Given the description of an element on the screen output the (x, y) to click on. 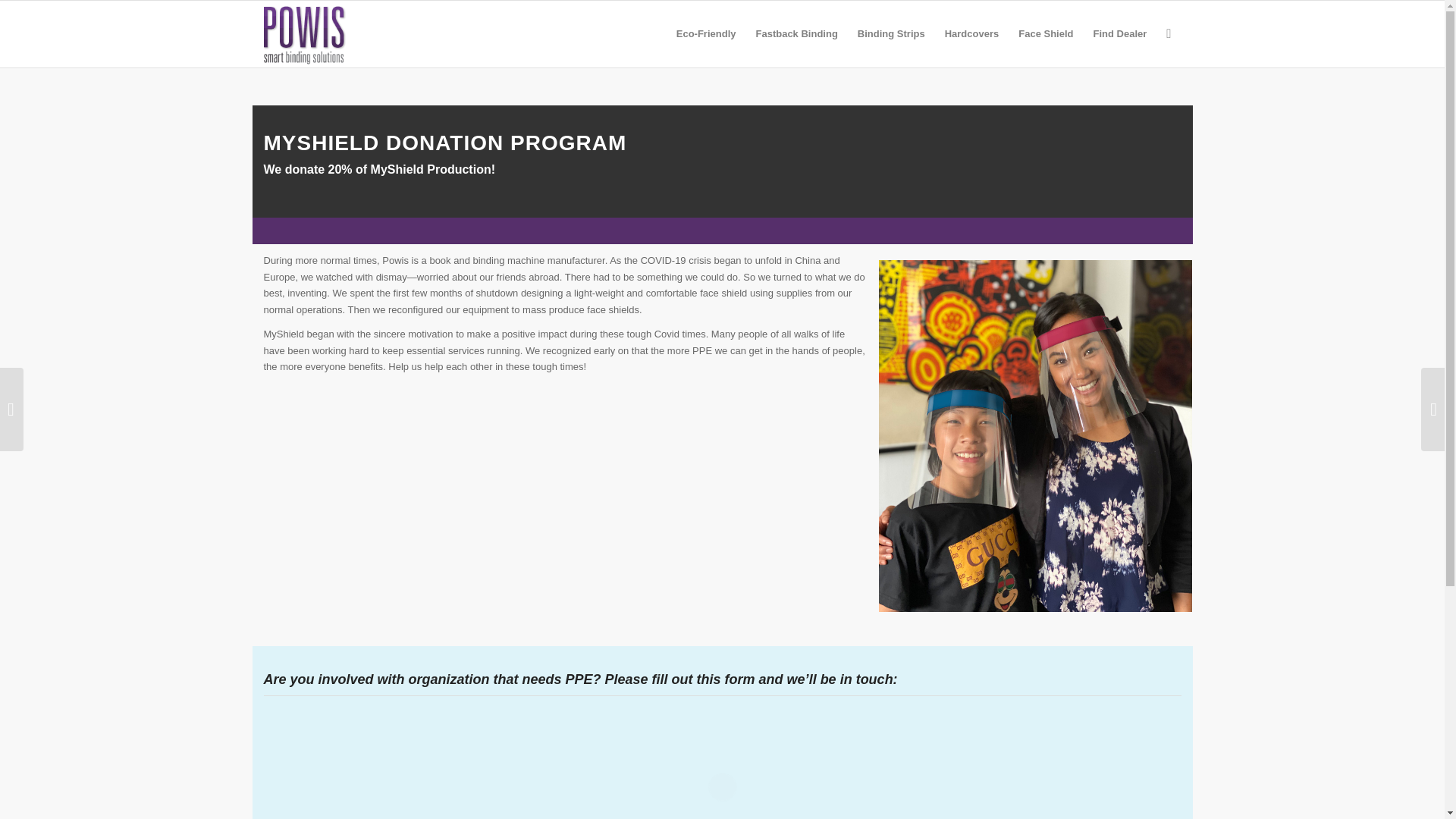
Fastback Binding (796, 33)
Face Shield (1046, 33)
Hardcovers (971, 33)
Find Dealer (1119, 33)
Eco-Friendly (705, 33)
Binding Strips (890, 33)
